Given the description of an element on the screen output the (x, y) to click on. 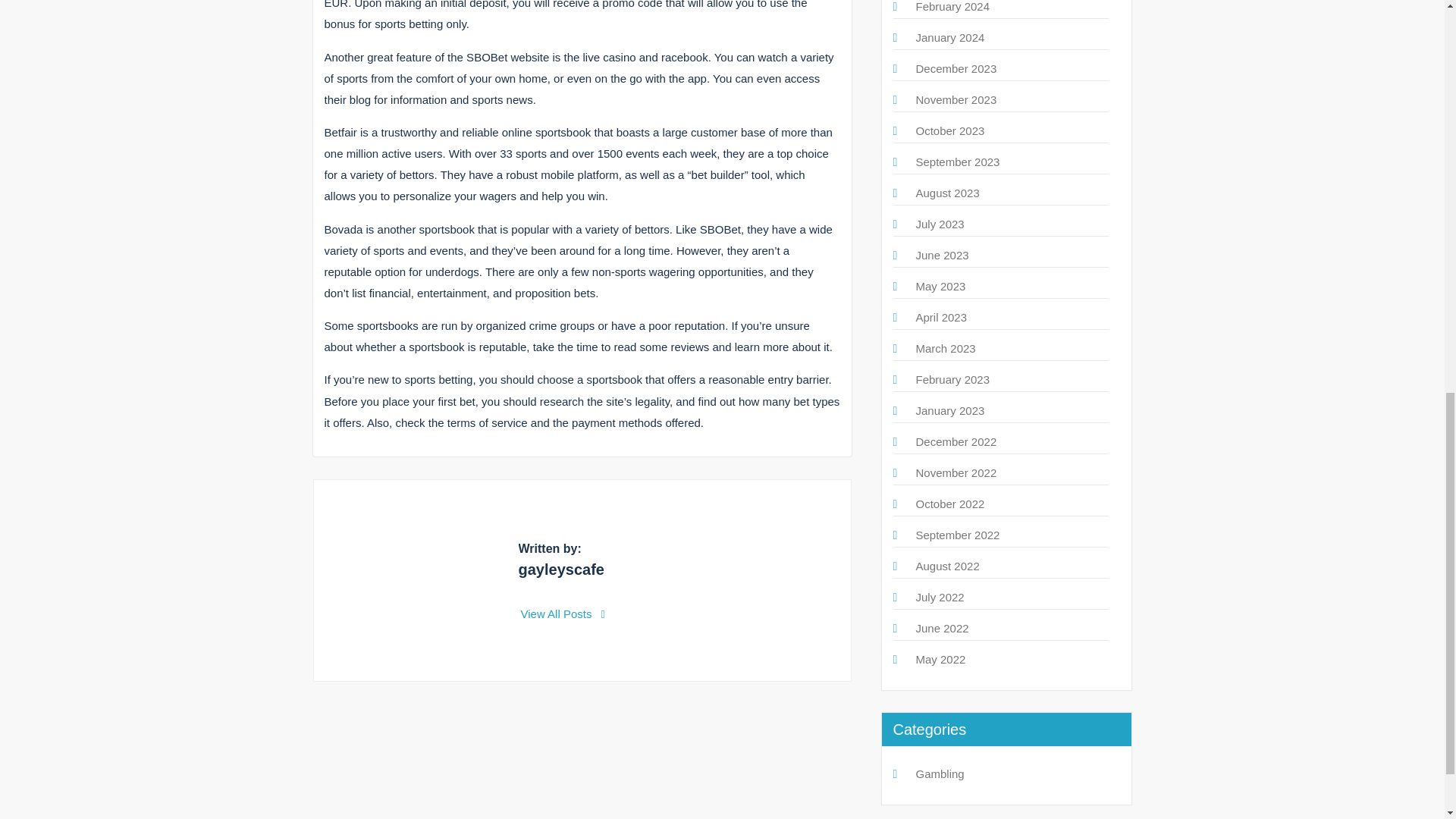
January 2023 (950, 410)
December 2023 (956, 68)
May 2023 (940, 286)
August 2022 (947, 565)
May 2022 (940, 658)
October 2022 (950, 503)
August 2023 (947, 192)
September 2022 (957, 534)
March 2023 (945, 348)
December 2022 (956, 440)
